Given the description of an element on the screen output the (x, y) to click on. 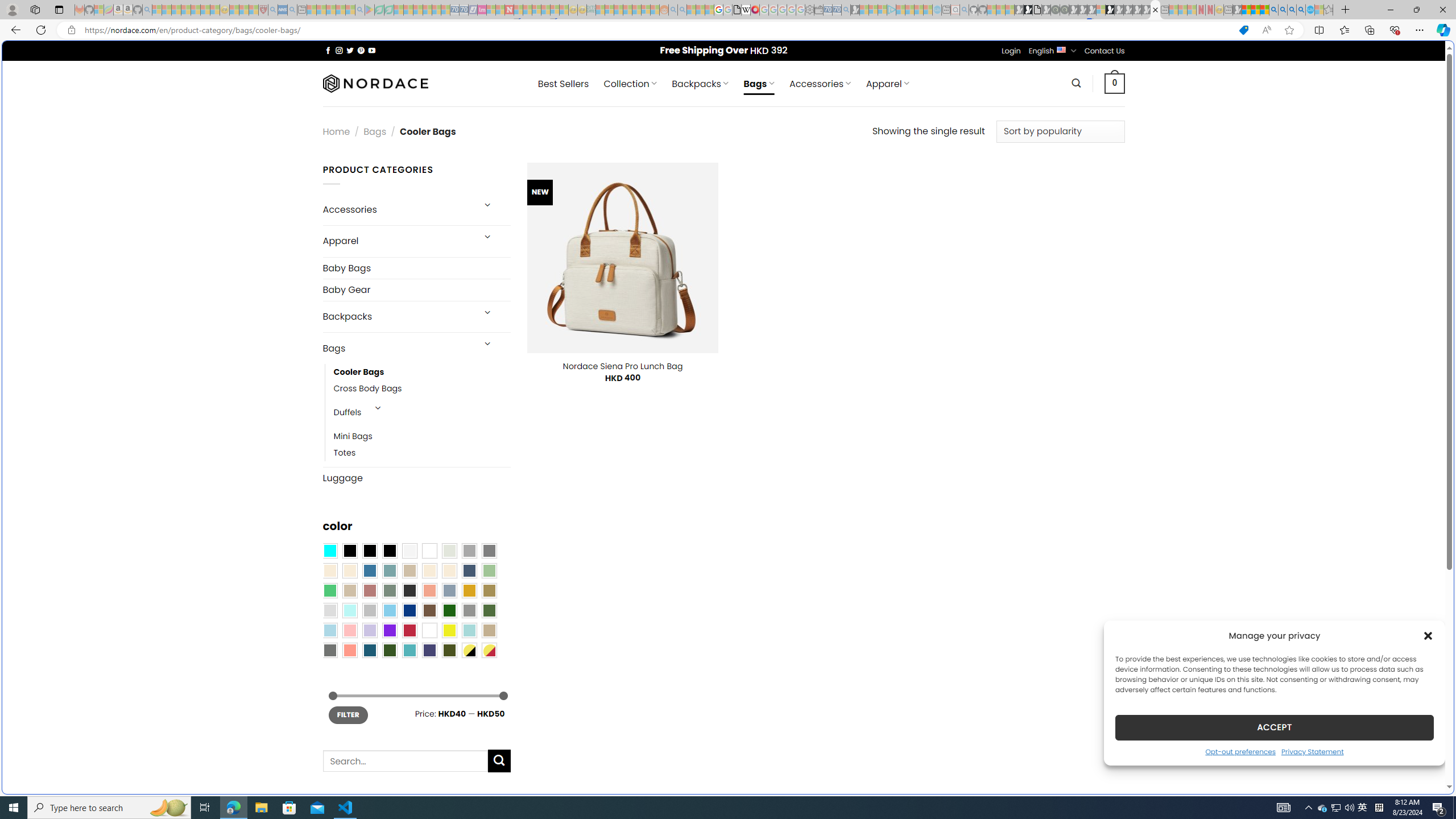
Dull Nickle (329, 649)
Dusty Blue (449, 590)
Baby Bags (416, 268)
